Given the description of an element on the screen output the (x, y) to click on. 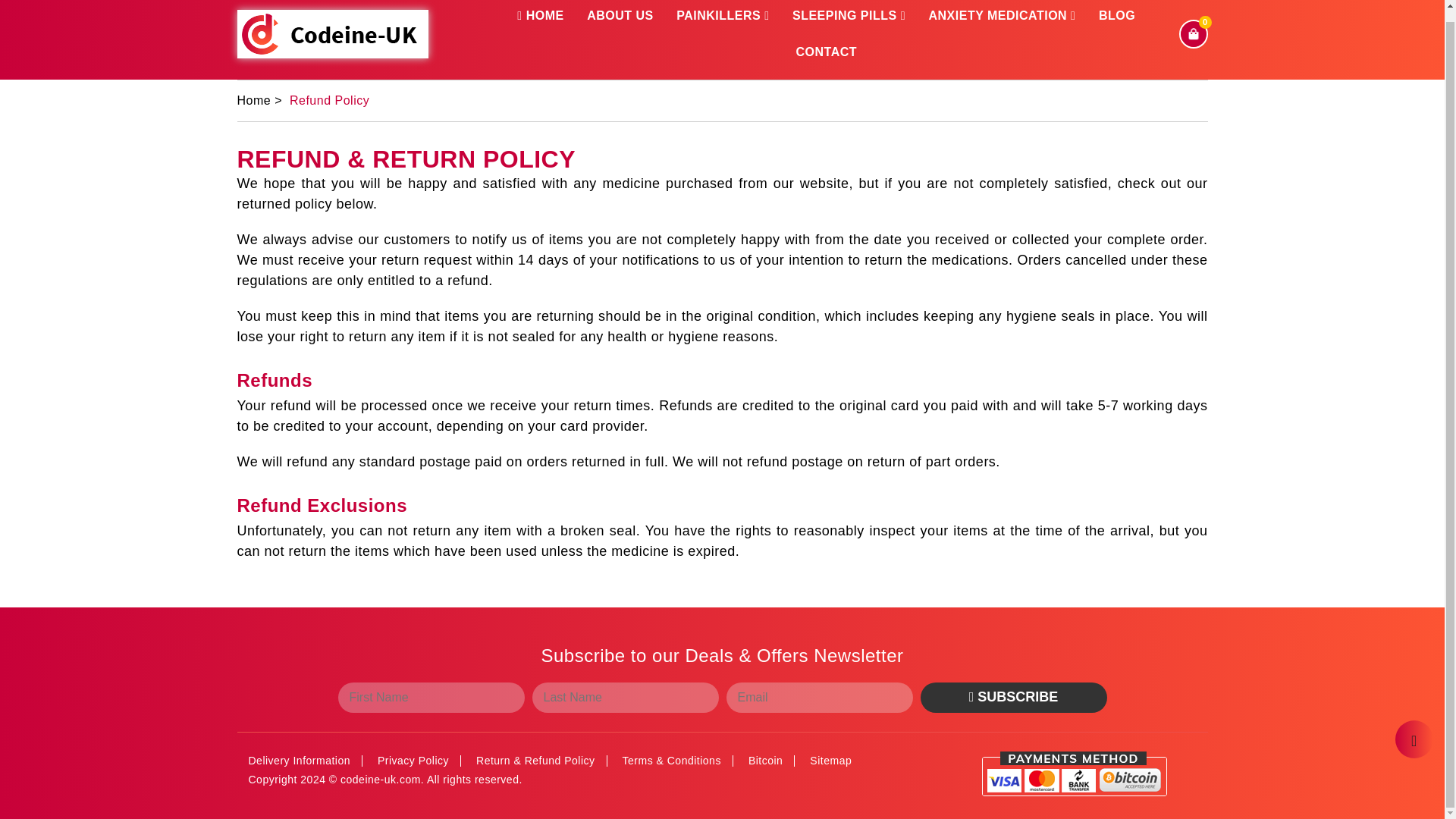
Sitemap (830, 760)
HOME (540, 17)
0 (1192, 32)
SLEEPING PILLS (848, 17)
Privacy Policy (412, 760)
ANXIETY MEDICATION (1001, 17)
ABOUT US (620, 17)
Delivery Information (299, 760)
BLOG (1117, 17)
CONTACT (825, 52)
